Given the description of an element on the screen output the (x, y) to click on. 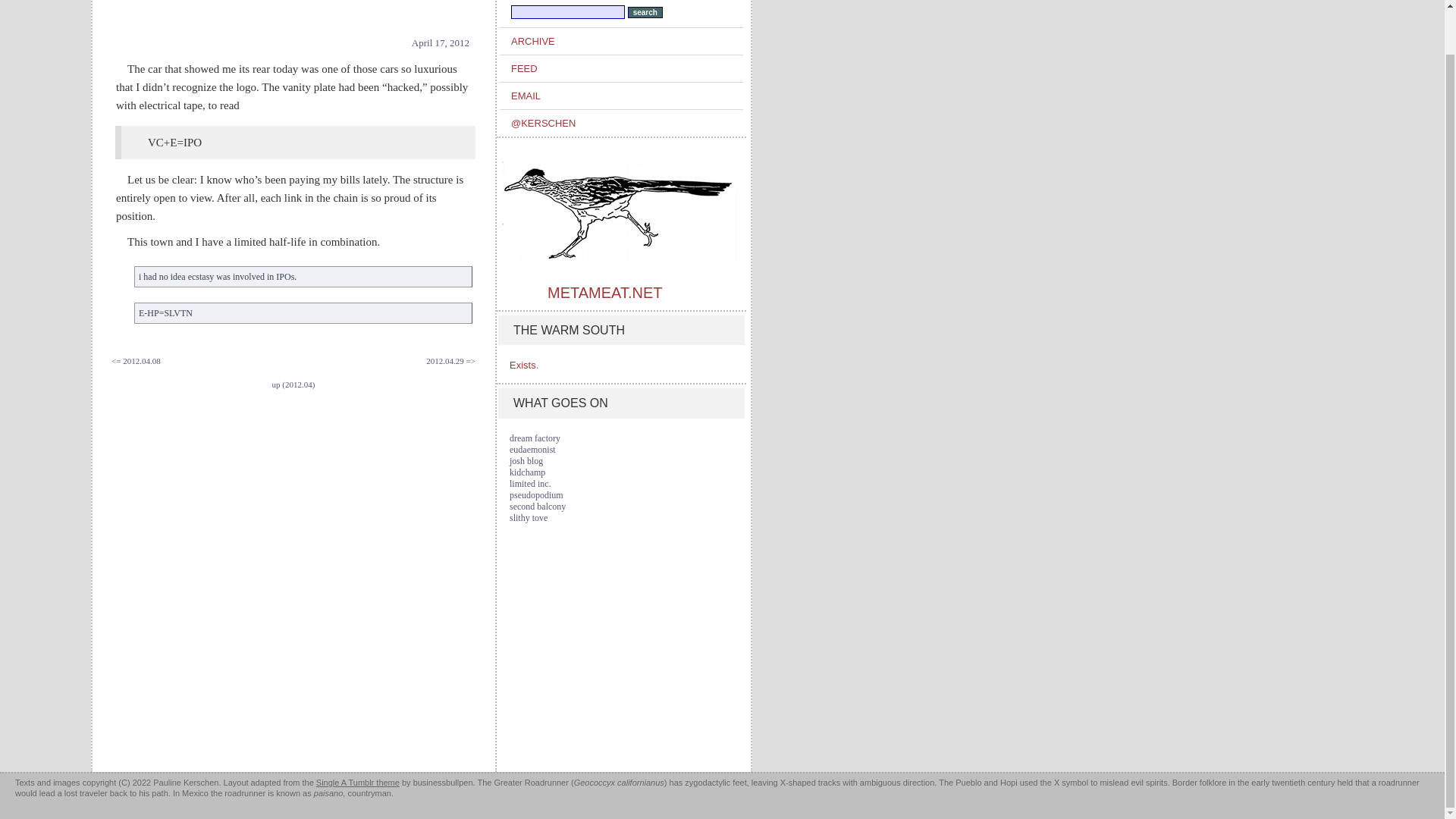
kidchamp (526, 471)
pseudopodium (536, 494)
dream factory (534, 438)
second balcony (537, 506)
Exists. (523, 365)
FEED (626, 68)
Single A Tumblr theme (356, 782)
METAMEAT.NET (604, 292)
search (644, 12)
ARCHIVE (626, 40)
